Given the description of an element on the screen output the (x, y) to click on. 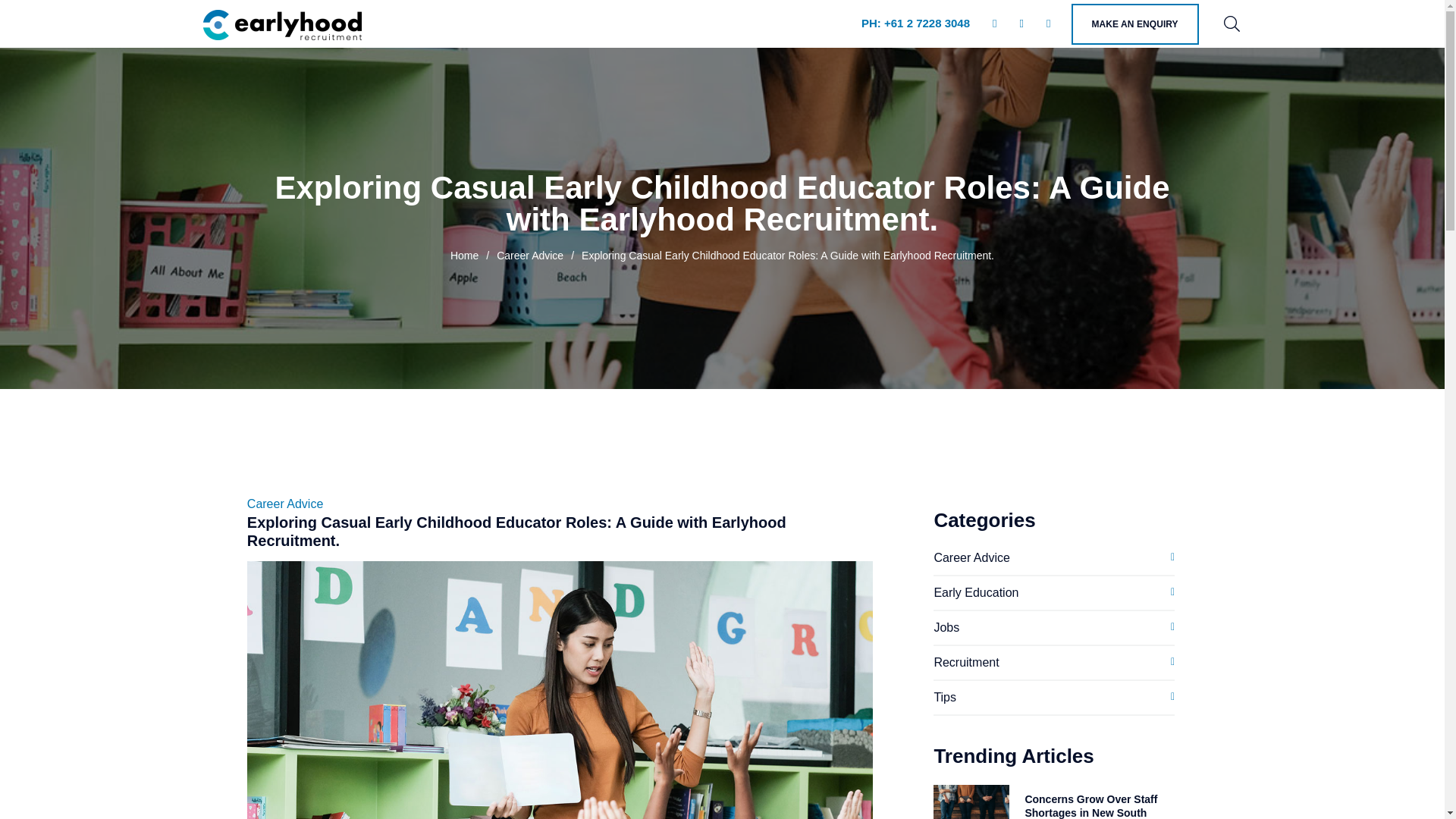
Home (464, 255)
Career Advice (529, 255)
Career Advice (971, 557)
Tips (944, 697)
MAKE AN ENQUIRY (1134, 24)
Early Education (975, 592)
Recruitment (965, 662)
Jobs (946, 626)
